Given the description of an element on the screen output the (x, y) to click on. 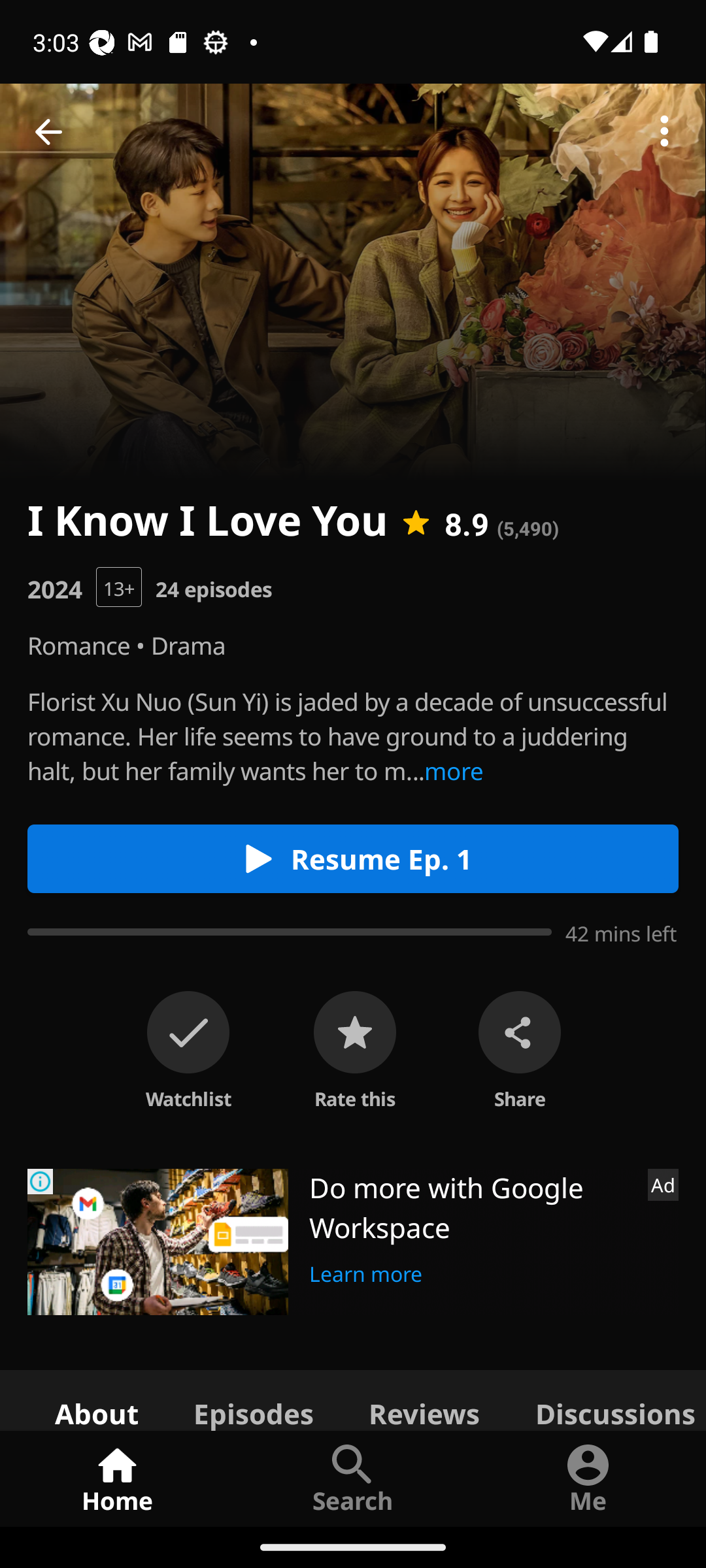
More (664, 131)
on (187, 1032)
Ad Choices Icon (39, 1181)
Do more with Google Workspace (471, 1207)
Learn more (365, 1271)
Episodes (252, 1400)
Reviews (423, 1400)
Discussions (606, 1400)
Search (352, 1478)
Me (588, 1478)
